Given the description of an element on the screen output the (x, y) to click on. 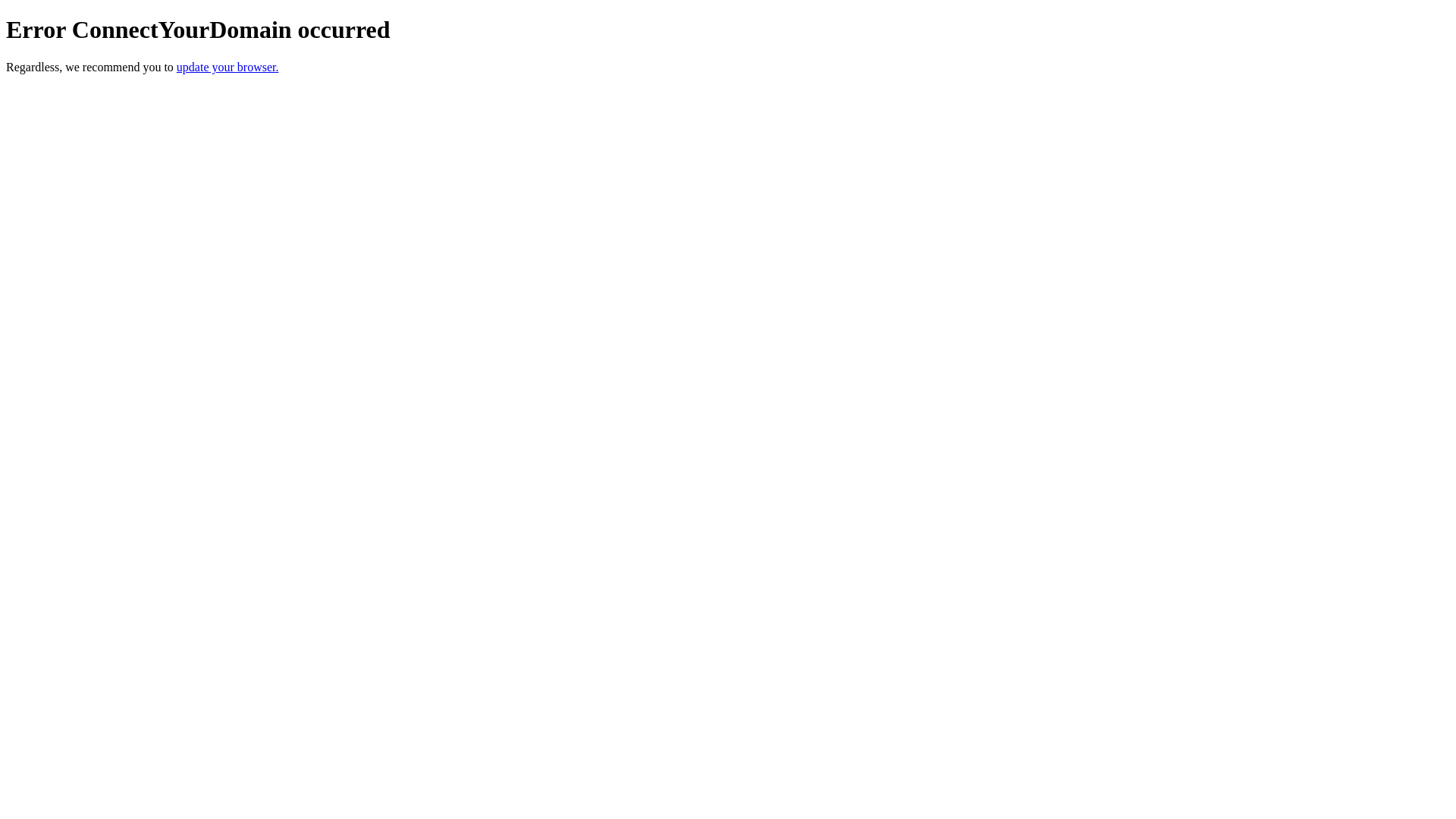
update your browser. Element type: text (227, 66)
